Given the description of an element on the screen output the (x, y) to click on. 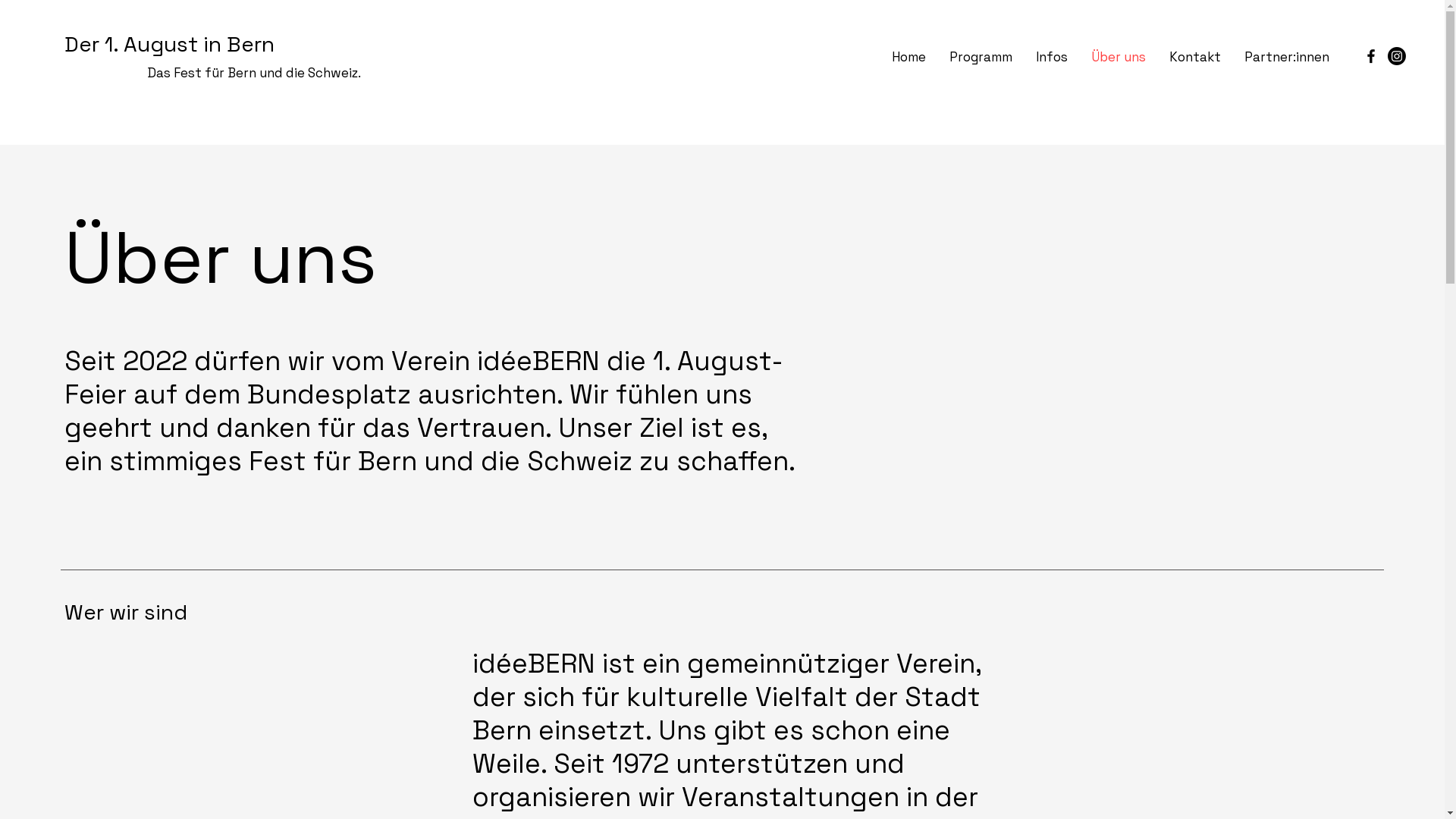
Der 1. August in Bern Element type: text (169, 43)
Home Element type: text (908, 56)
Kontakt Element type: text (1194, 56)
Infos Element type: text (1051, 56)
Programm Element type: text (980, 56)
Partner:innen Element type: text (1286, 56)
